Given the description of an element on the screen output the (x, y) to click on. 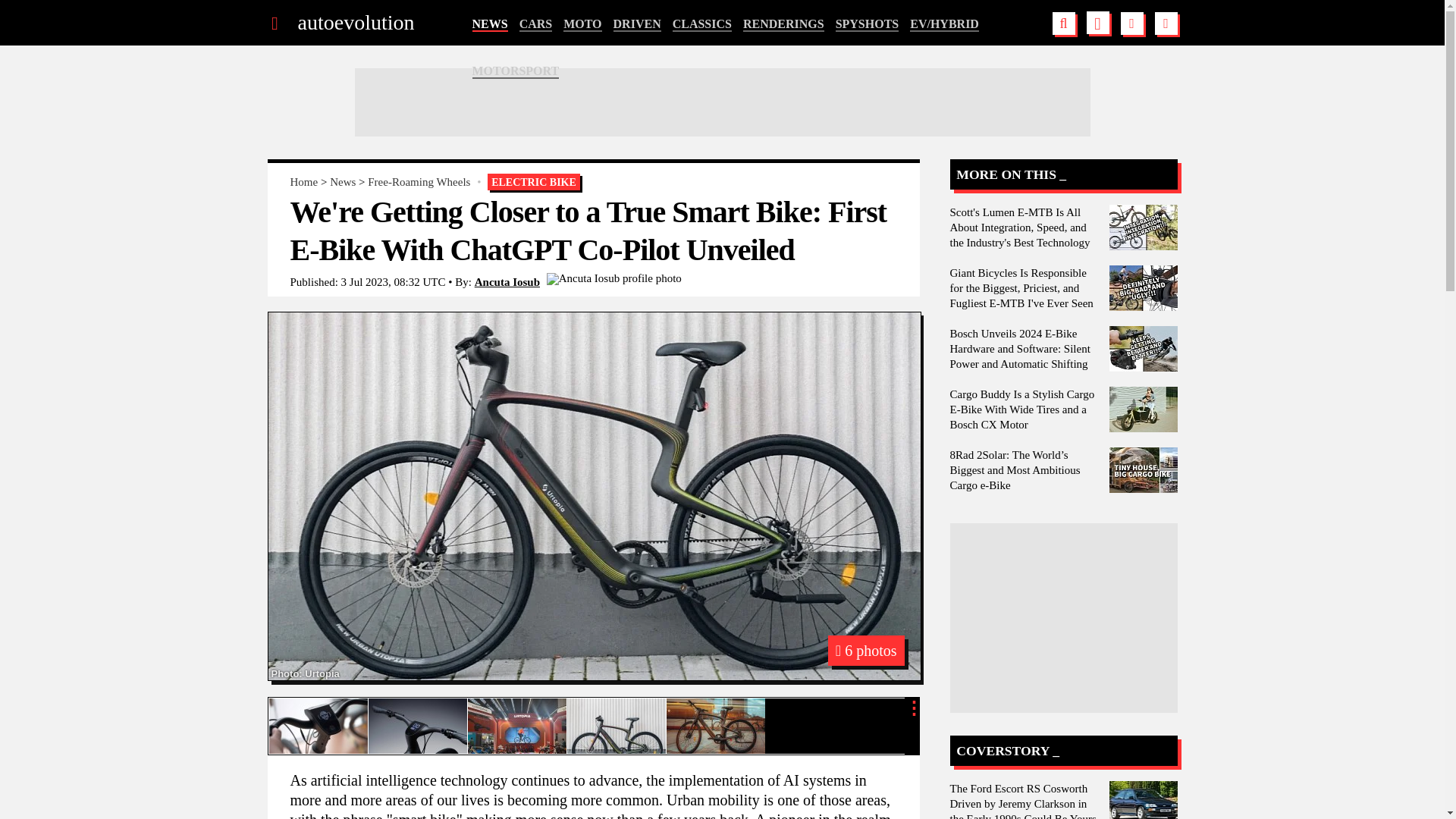
Home (303, 182)
autoevolution (355, 22)
autoevolution (355, 22)
CARS (536, 24)
News (342, 182)
Free-Roaming Wheels (419, 182)
MOTORSPORT (515, 71)
MOTO (582, 24)
RENDERINGS (783, 24)
CLASSICS (702, 24)
